Given the description of an element on the screen output the (x, y) to click on. 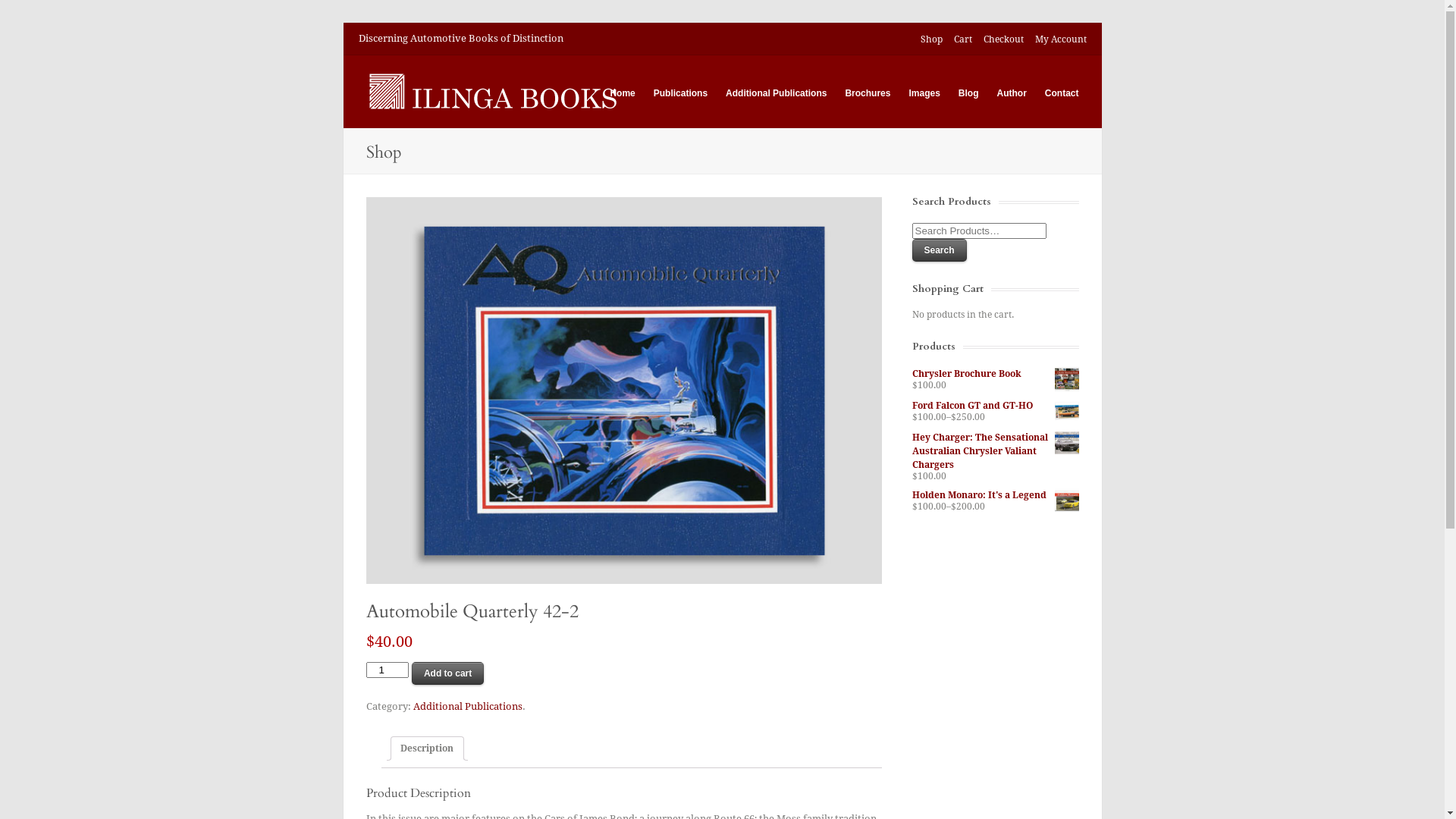
My Account Element type: text (1059, 39)
Search Element type: text (938, 249)
Additional Publications Element type: text (466, 706)
Checkout Element type: text (1002, 39)
Publications Element type: text (680, 93)
Add to cart Element type: text (447, 673)
Images Element type: text (923, 93)
Search for: Element type: hover (978, 230)
Chrysler Brochure Book Element type: text (994, 373)
Ford Falcon GT and GT-HO Element type: text (994, 405)
Shop Element type: text (931, 39)
Contact Element type: text (1061, 93)
Qty Element type: hover (386, 669)
Blog Element type: text (968, 93)
Cart Element type: text (962, 39)
Brochures Element type: text (867, 93)
Home Element type: text (621, 93)
Additional Publications Element type: text (775, 93)
Holden Monaro: It's a Legend Element type: text (994, 495)
Author Element type: text (1011, 93)
Description Element type: text (426, 748)
